Given the description of an element on the screen output the (x, y) to click on. 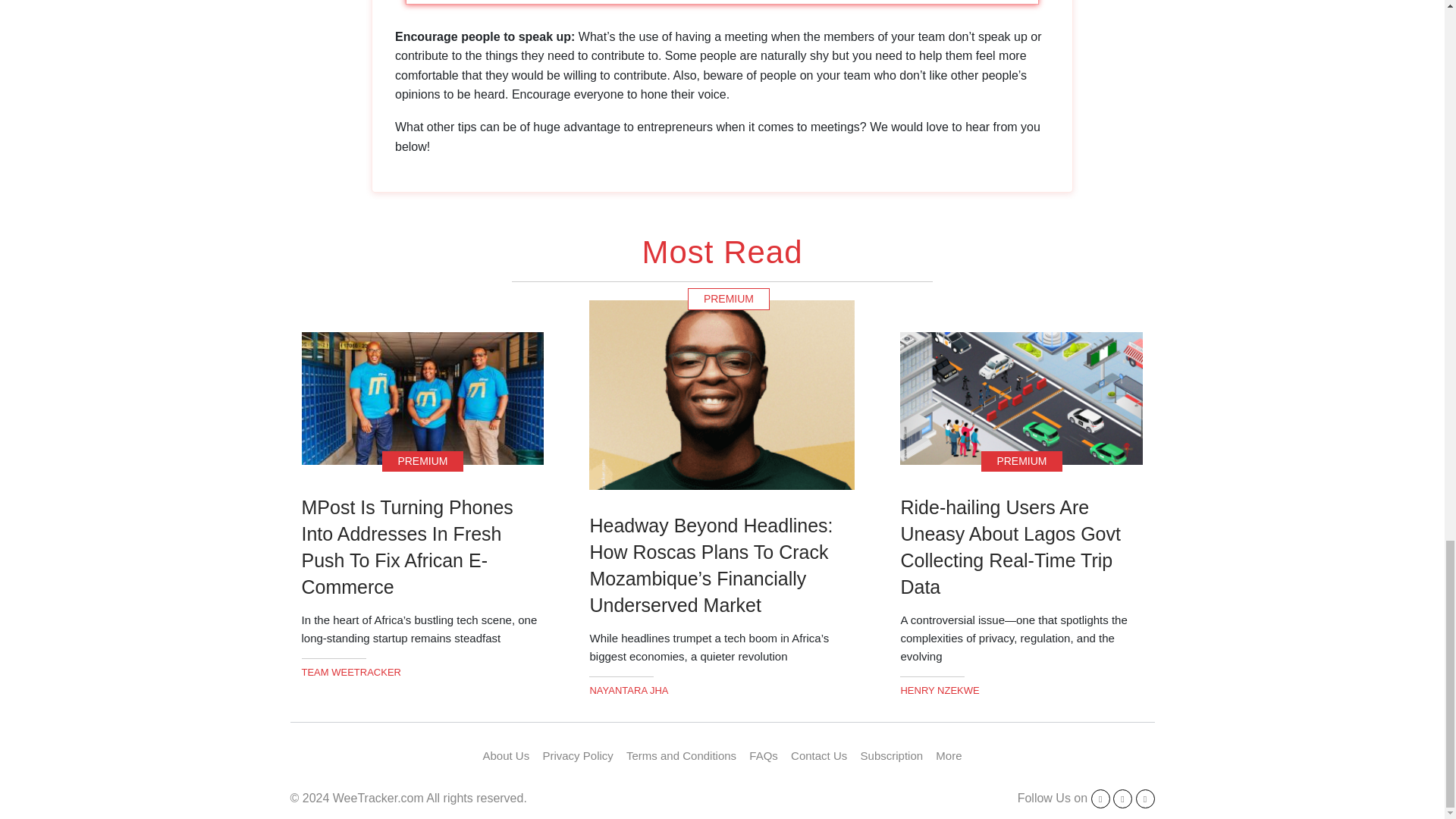
Posts by Andrew Christian (628, 690)
Posts by Andrew Christian (938, 690)
Posts by Andrew Christian (351, 672)
